Given the description of an element on the screen output the (x, y) to click on. 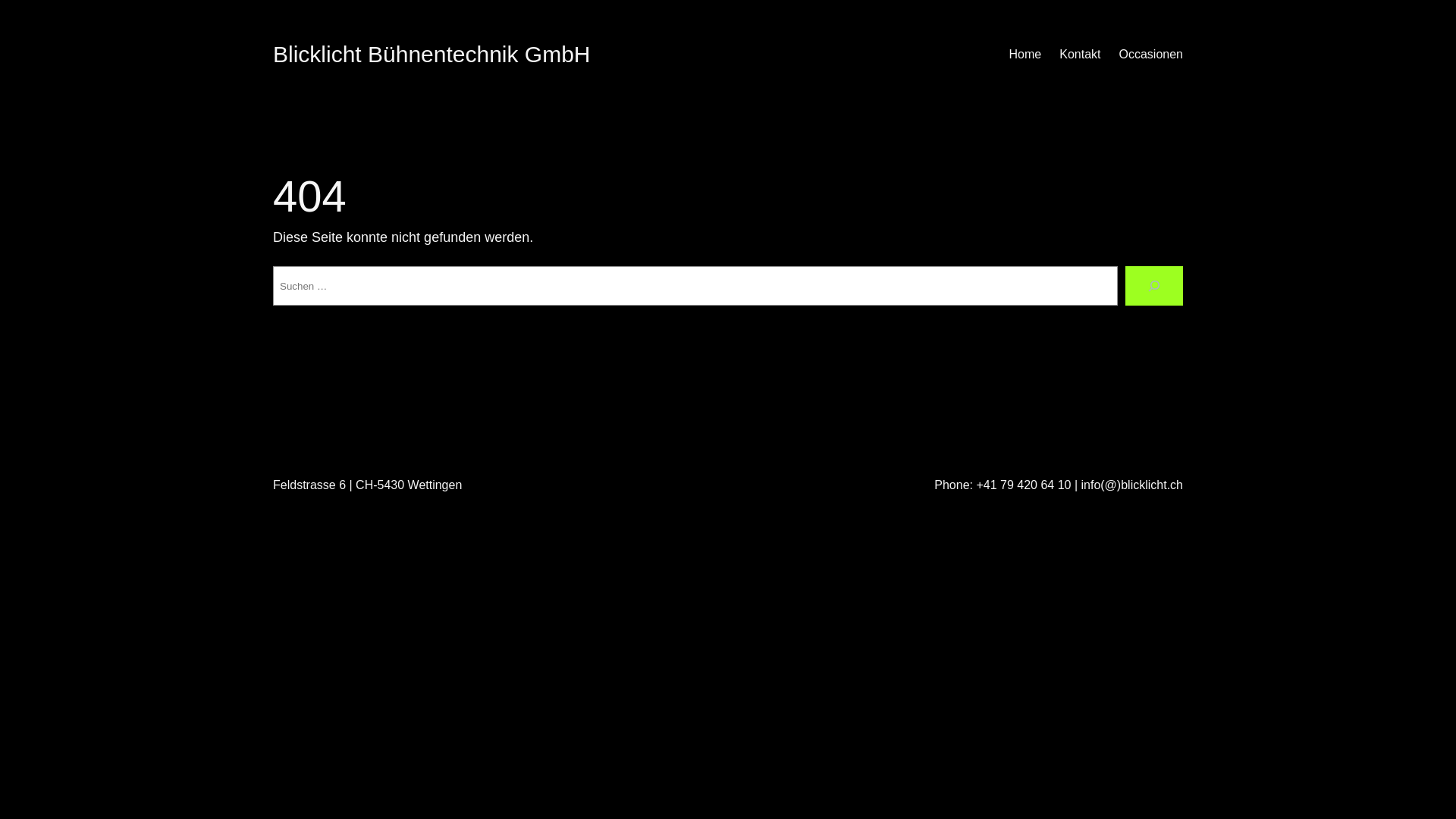
Occasionen Element type: text (1151, 54)
Home Element type: text (1025, 54)
Kontakt Element type: text (1079, 54)
